Given the description of an element on the screen output the (x, y) to click on. 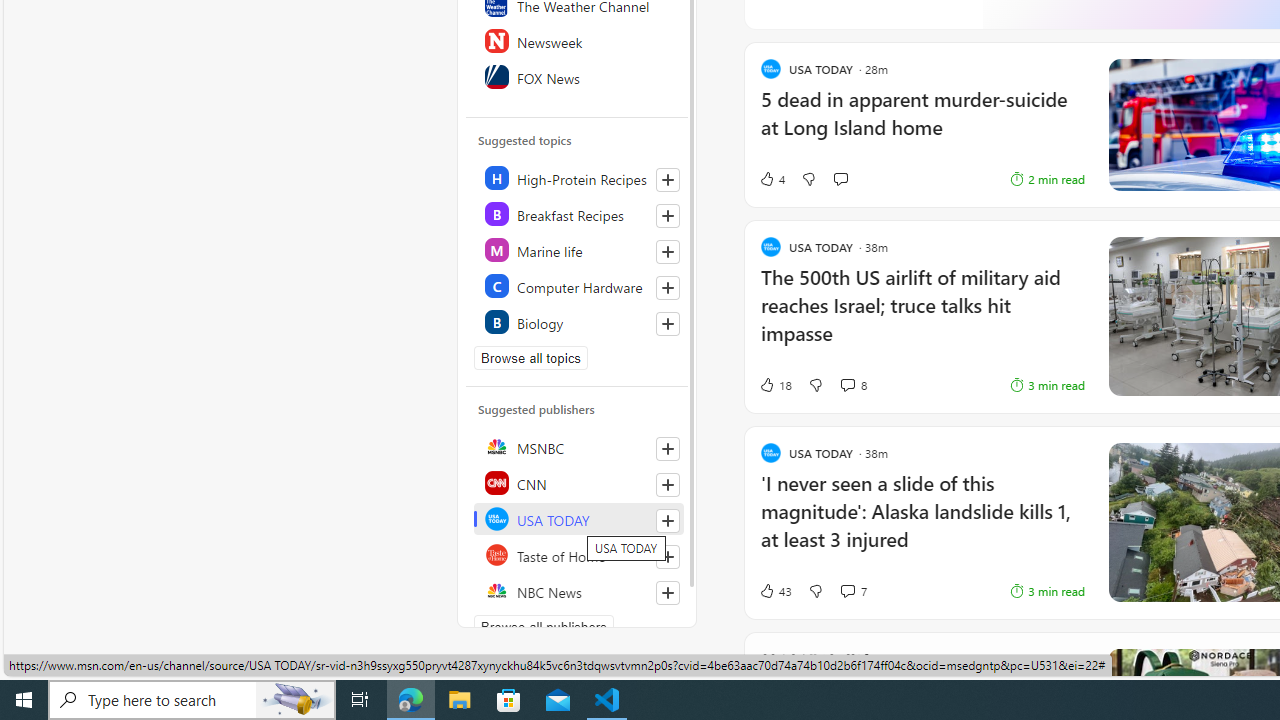
View comments 7 Comment (852, 590)
43 Like (775, 590)
View comments 7 Comment (847, 591)
Class: highlight (578, 321)
Browse all topics (530, 358)
4 Like (771, 178)
